Given the description of an element on the screen output the (x, y) to click on. 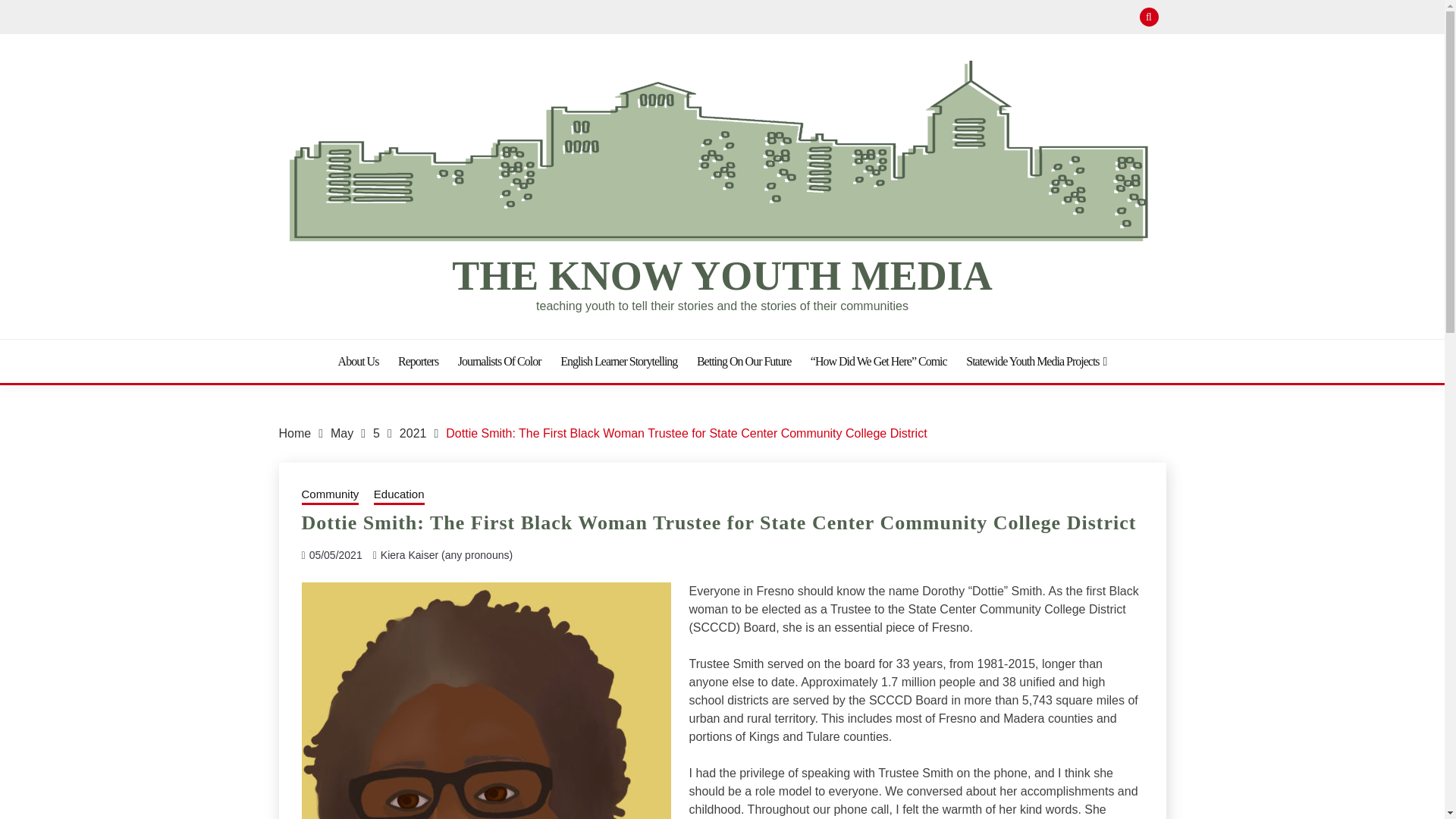
English Learner Storytelling (618, 361)
Reporters (417, 361)
THE KNOW YOUTH MEDIA (721, 275)
Betting On Our Future (743, 361)
Statewide Youth Media Projects (1036, 361)
May (341, 432)
Education (399, 496)
Search (832, 18)
2021 (412, 432)
Home (295, 432)
About Us (357, 361)
Journalists Of Color (499, 361)
Community (330, 496)
